Given the description of an element on the screen output the (x, y) to click on. 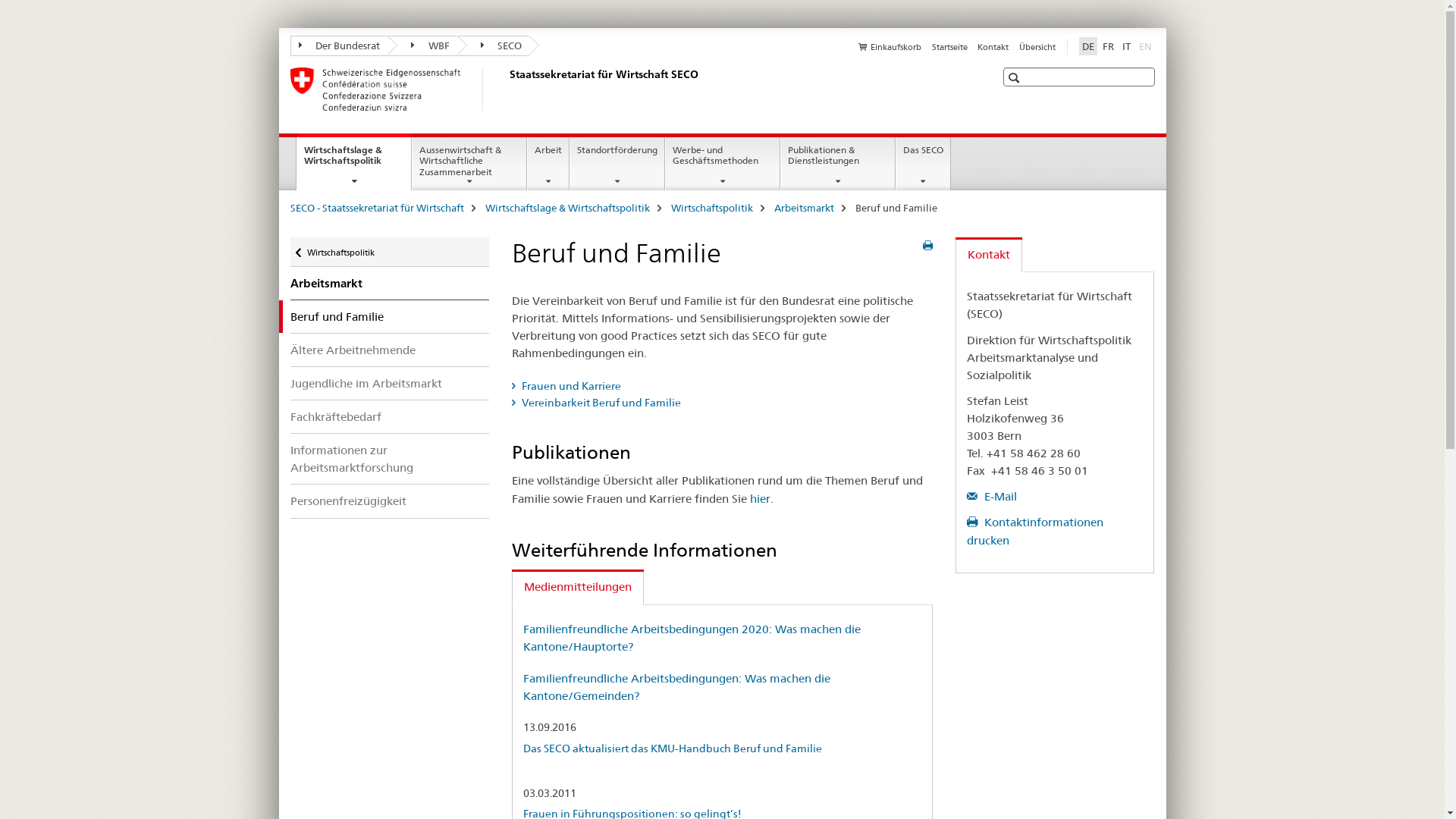
IT Element type: text (1126, 46)
Medienmitteilungen Element type: text (577, 587)
Vereinbarkeit Beruf und Familie Element type: text (721, 402)
Arbeitsmarkt Element type: text (803, 207)
Wirtschaftslage & Wirtschaftspolitik
current page Element type: text (354, 161)
Das SECO aktualisiert das KMU-Handbuch Beruf und Familie Element type: text (672, 748)
Arbeitsmarkt Element type: text (389, 283)
Wirtschaftslage & Wirtschaftspolitik Element type: text (567, 207)
Frauen und Karriere Element type: text (721, 385)
Kontakt Element type: text (992, 46)
Kontaktinformationen drucken Element type: text (1034, 530)
Startseite Element type: text (949, 46)
Aussenwirtschaft & Wirtschaftliche Zusammenarbeit Element type: text (469, 163)
E-Mail Element type: text (991, 496)
Das SECO Element type: text (923, 163)
Der Bundesrat Element type: text (338, 45)
WBF Element type: text (422, 45)
Wirtschaftspolitik Element type: text (711, 207)
FR Element type: text (1108, 46)
Arbeit Element type: text (547, 163)
Einkaufskorb Element type: text (889, 46)
Jugendliche im Arbeitsmarkt Element type: text (389, 383)
Publikationen & Dienstleistungen Element type: text (837, 163)
Kontakt Element type: text (988, 255)
Seite drucken Element type: hover (927, 245)
EN
disabled Element type: text (1144, 46)
DE Element type: text (1087, 46)
SECO Element type: text (492, 45)
Informationen zur Arbeitsmarktforschung Element type: text (389, 458)
hier Element type: text (759, 498)
